Given the description of an element on the screen output the (x, y) to click on. 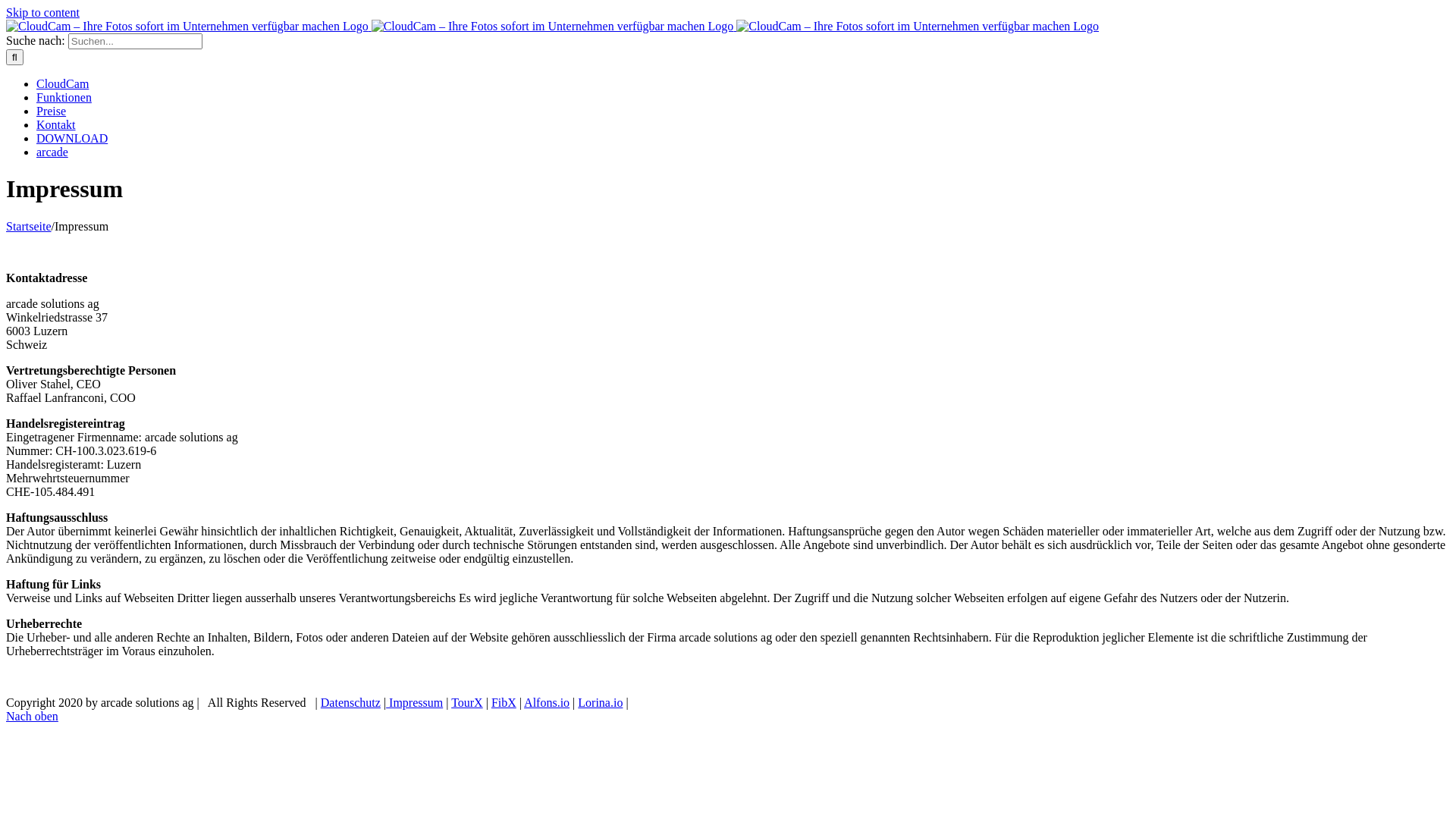
FibX Element type: text (503, 702)
Nach oben Element type: text (32, 715)
Skip to content Element type: text (42, 12)
Kontakt Element type: text (55, 124)
Lorina.io Element type: text (599, 702)
Alfons.io Element type: text (546, 702)
Preise Element type: text (50, 110)
TourX Element type: text (467, 702)
arcade Element type: text (52, 151)
Startseite Element type: text (28, 225)
Datenschutz Element type: text (350, 702)
CloudCam Element type: text (62, 83)
Impressum Element type: text (413, 702)
Funktionen Element type: text (63, 97)
DOWNLOAD Element type: text (71, 137)
